Given the description of an element on the screen output the (x, y) to click on. 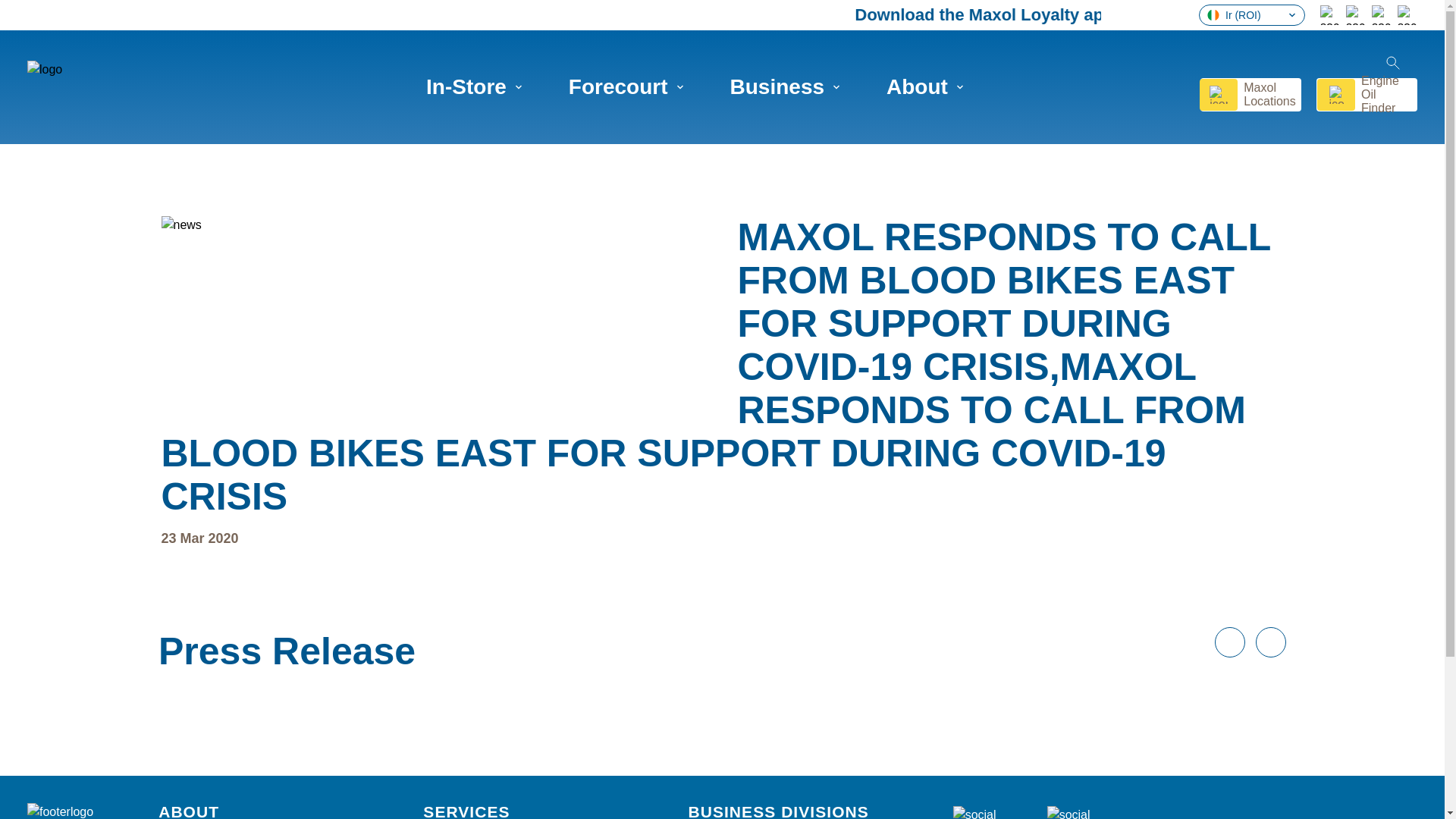
Forecourt (626, 86)
Business (785, 86)
In-Store (474, 86)
